Given the description of an element on the screen output the (x, y) to click on. 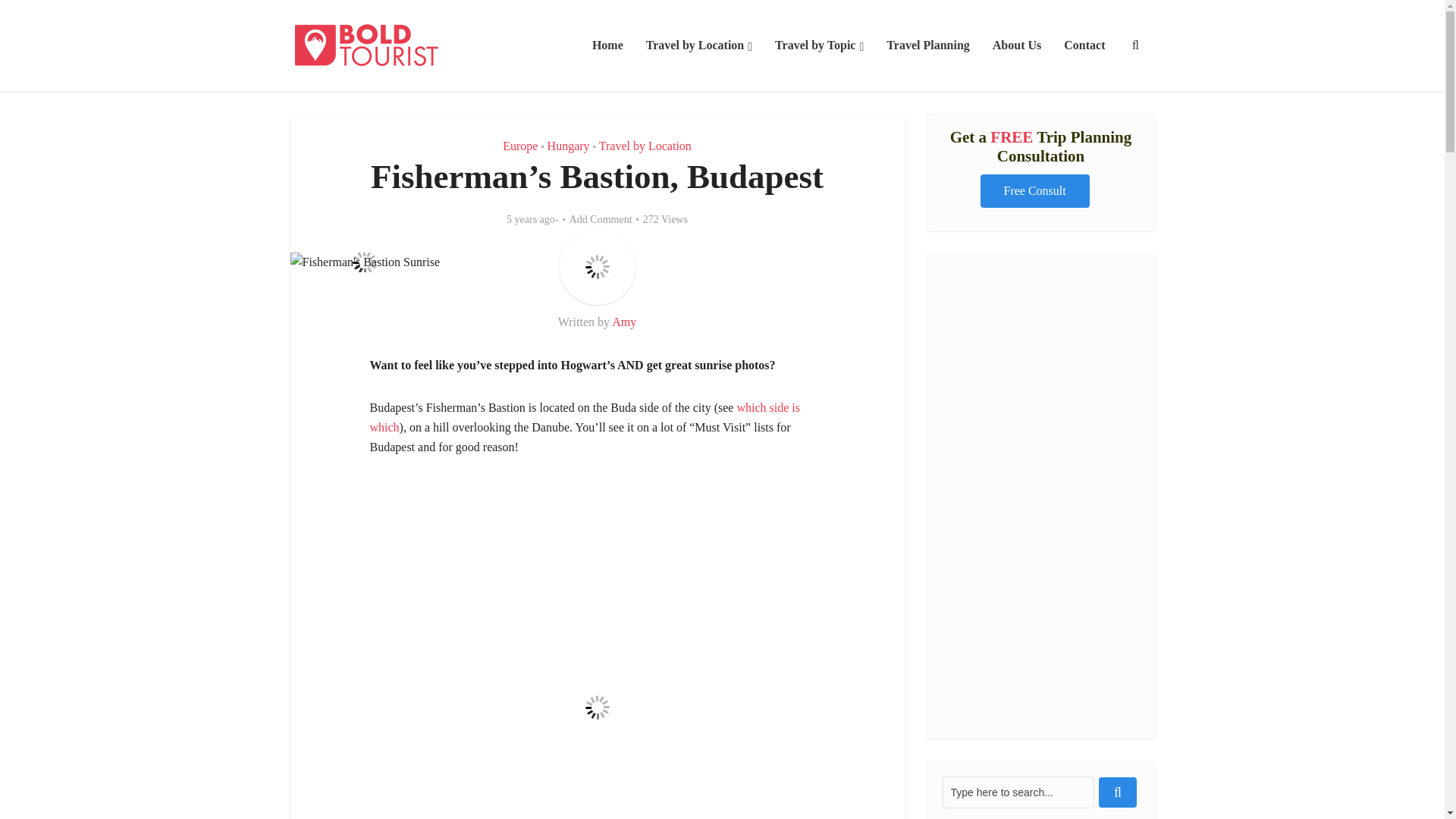
Type here to search... (1017, 792)
Travel by Topic (818, 45)
Travel by Location (698, 45)
Bold Tourist (365, 44)
Type here to search... (1017, 792)
